Given the description of an element on the screen output the (x, y) to click on. 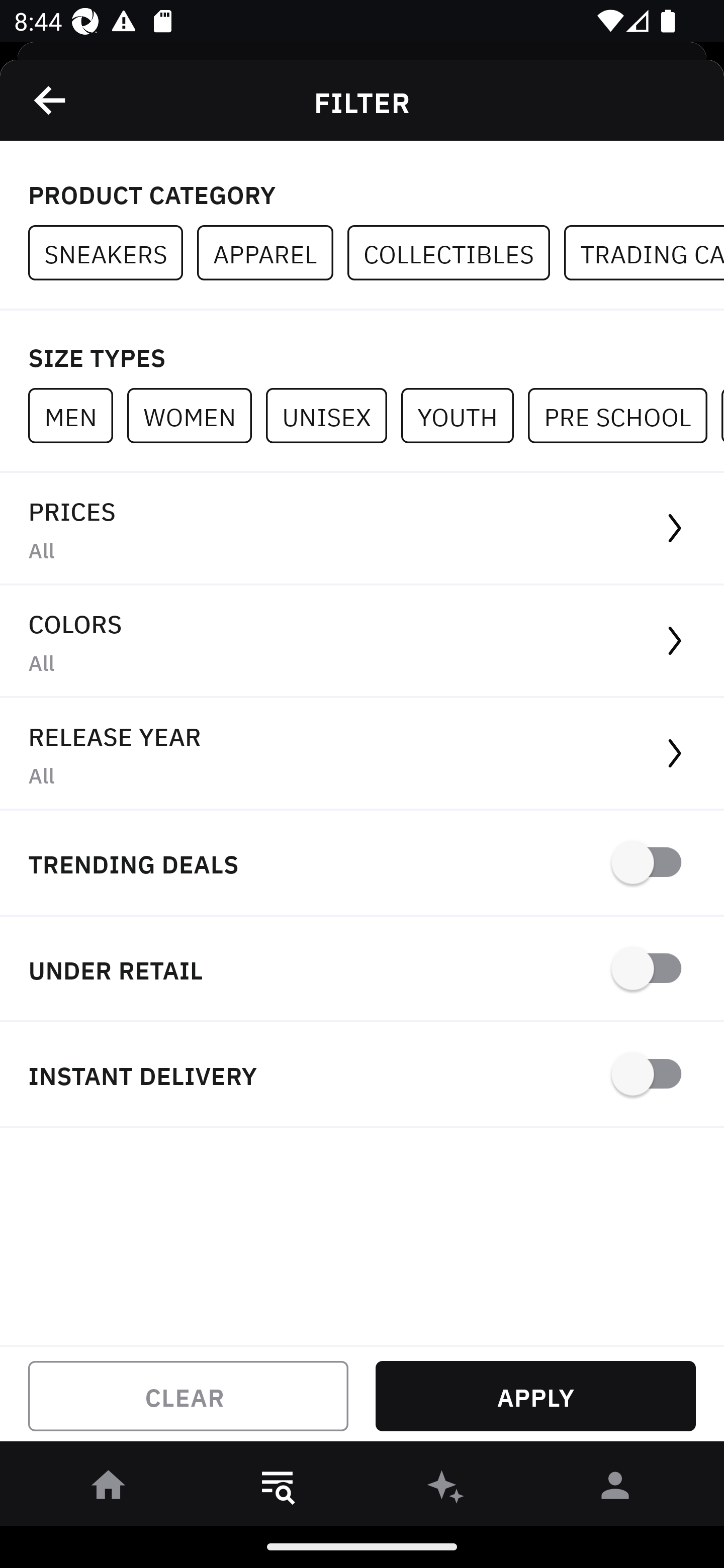
 (50, 100)
SNEAKERS (112, 252)
APPAREL (271, 252)
COLLECTIBLES (455, 252)
TRADING CARDS (643, 252)
MEN (77, 415)
WOMEN (196, 415)
UNISEX (333, 415)
YOUTH (464, 415)
PRE SCHOOL (624, 415)
PRICES All (362, 528)
COLORS All (362, 640)
RELEASE YEAR All (362, 753)
TRENDING DEALS (362, 863)
UNDER RETAIL (362, 969)
INSTANT DELIVERY (362, 1075)
CLEAR  (188, 1396)
APPLY (535, 1396)
󰋜 (108, 1488)
󱎸 (277, 1488)
󰫢 (446, 1488)
󰀄 (615, 1488)
